Given the description of an element on the screen output the (x, y) to click on. 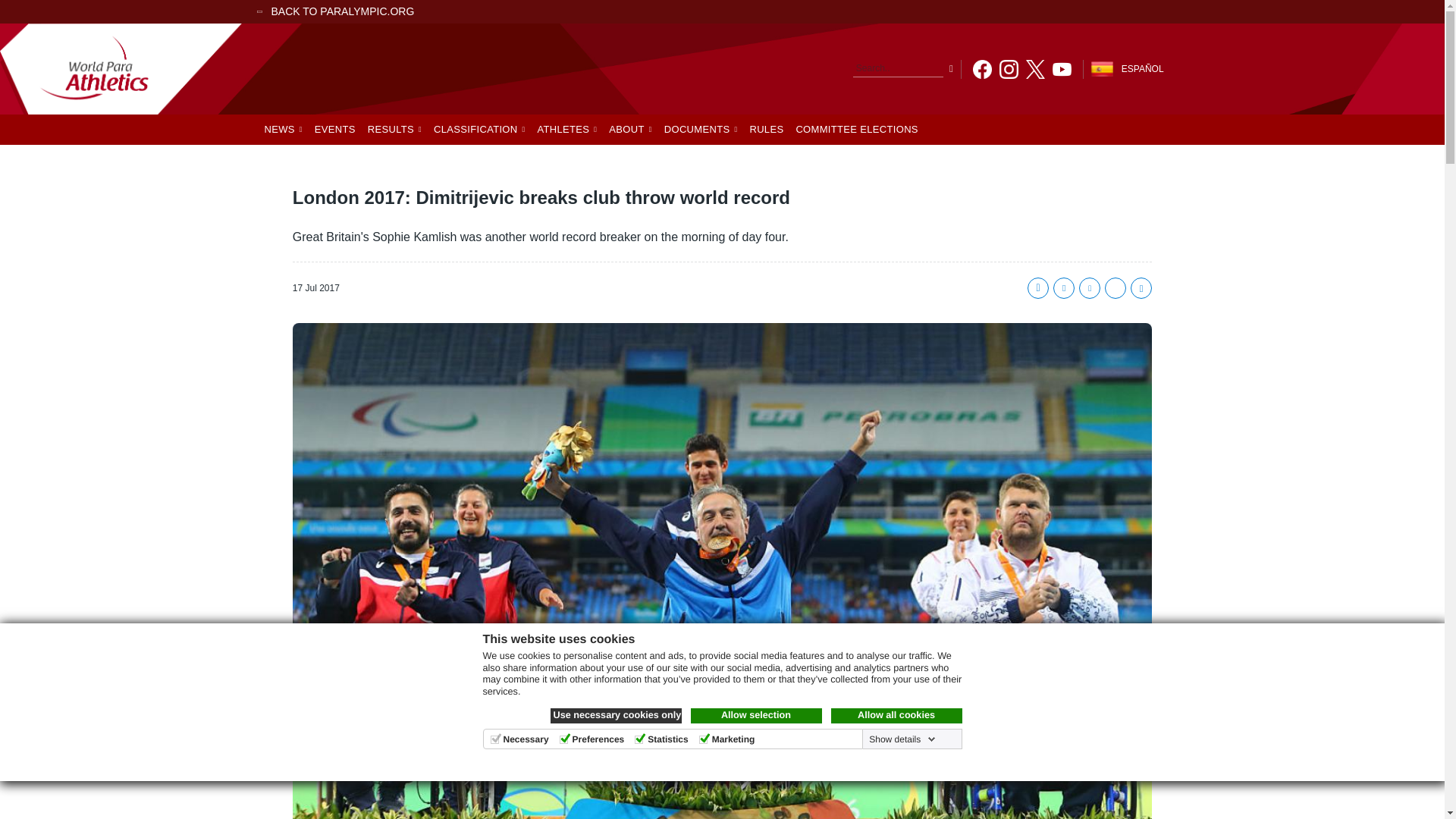
Allow selection (755, 715)
Show details (900, 739)
Use necessary cookies only (615, 715)
Allow all cookies (896, 715)
